Given the description of an element on the screen output the (x, y) to click on. 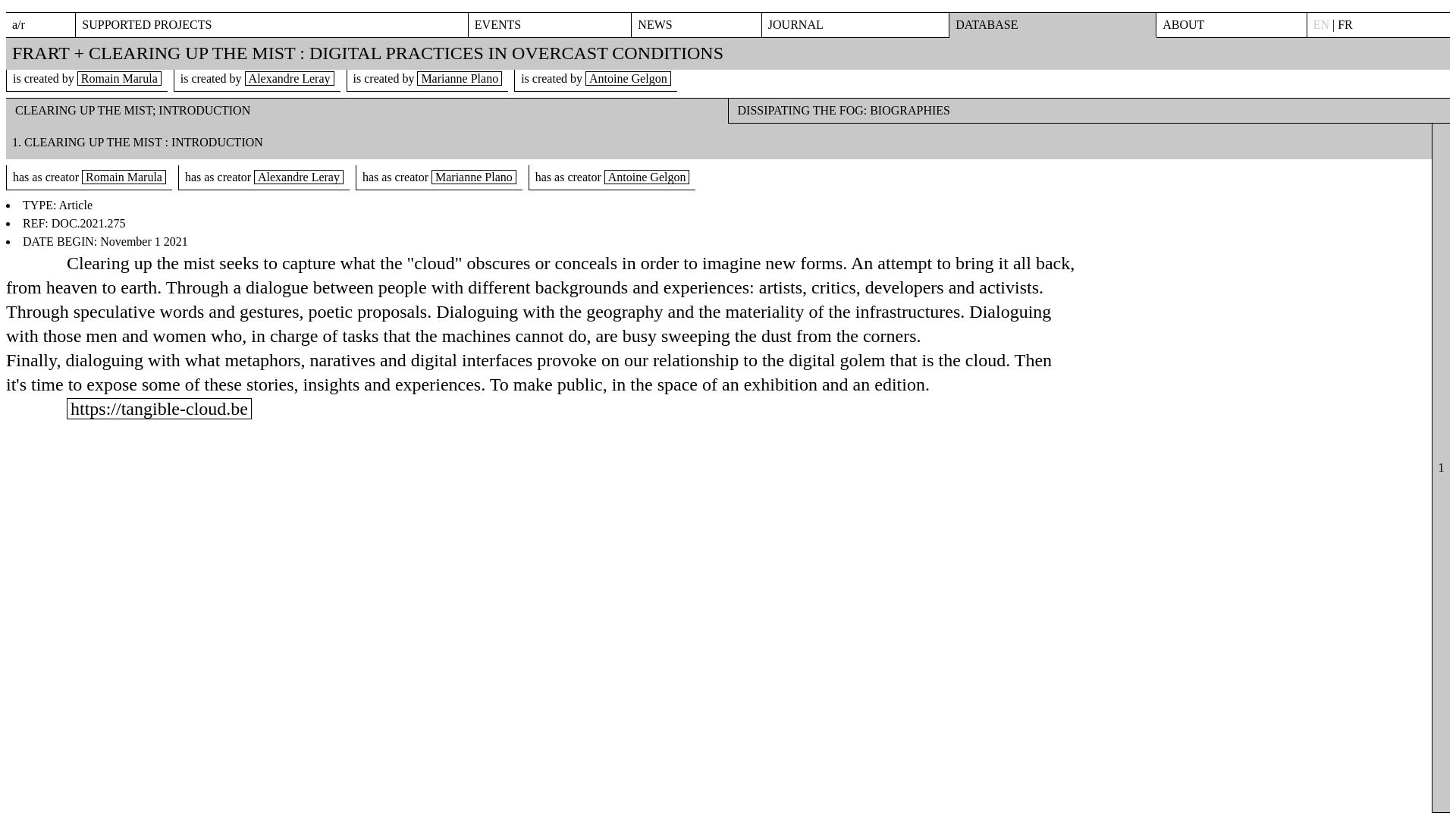
EVENTS (550, 24)
NEWS (695, 24)
EN (1321, 24)
Romain Marula (119, 78)
Antoine Gelgon (628, 78)
Antoine Gelgon (647, 176)
Alexandre Leray (289, 78)
Marianne Plano (459, 78)
